Given the description of an element on the screen output the (x, y) to click on. 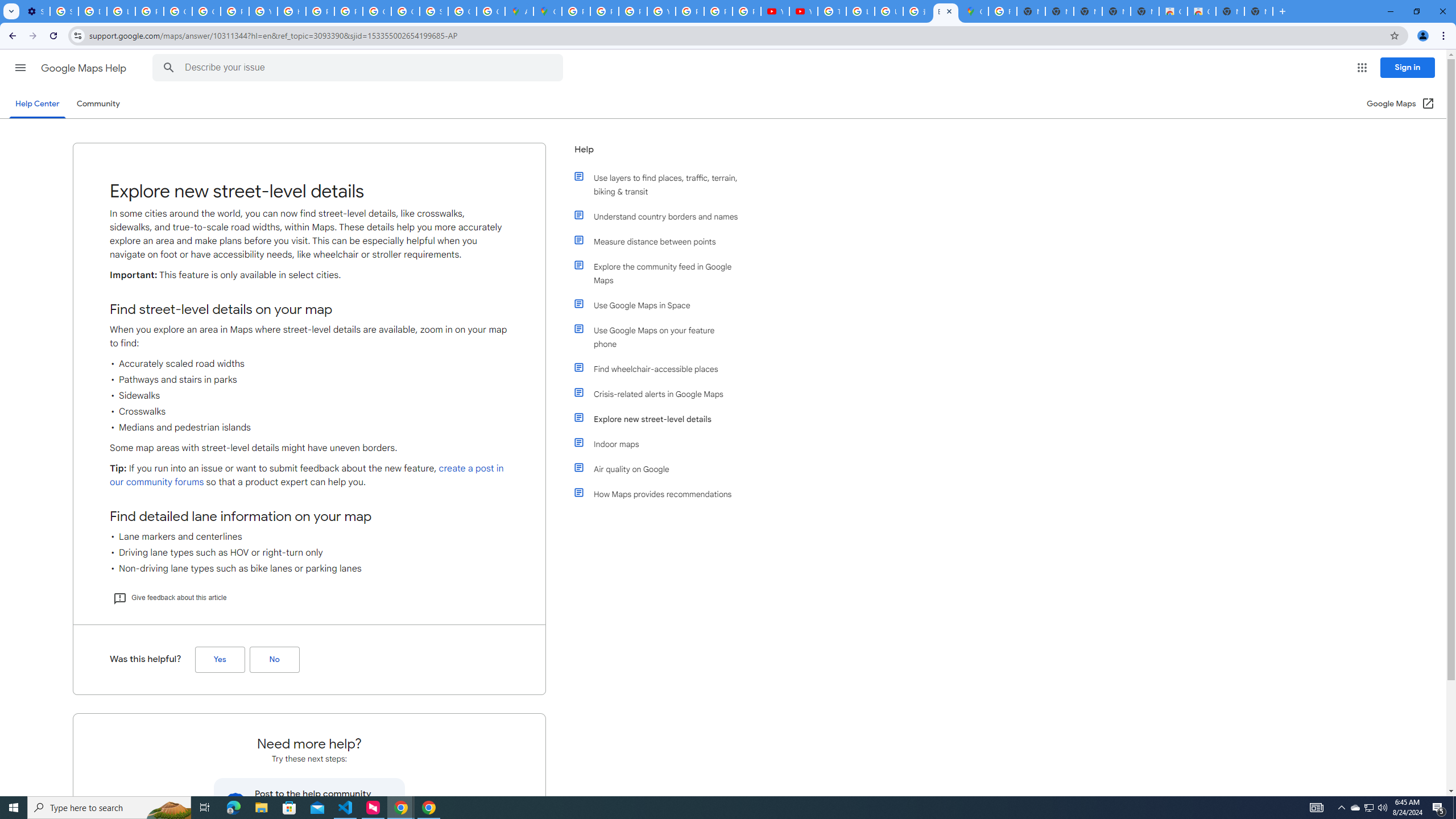
Air quality on Google (661, 469)
Sign in - Google Accounts (433, 11)
Privacy Checkup (718, 11)
Delete photos & videos - Computer - Google Photos Help (92, 11)
Create your Google Account (490, 11)
Find wheelchair-accessible places (661, 368)
Indoor maps (661, 444)
Google Account Help (178, 11)
Use Google Maps in Space (661, 305)
